Given the description of an element on the screen output the (x, y) to click on. 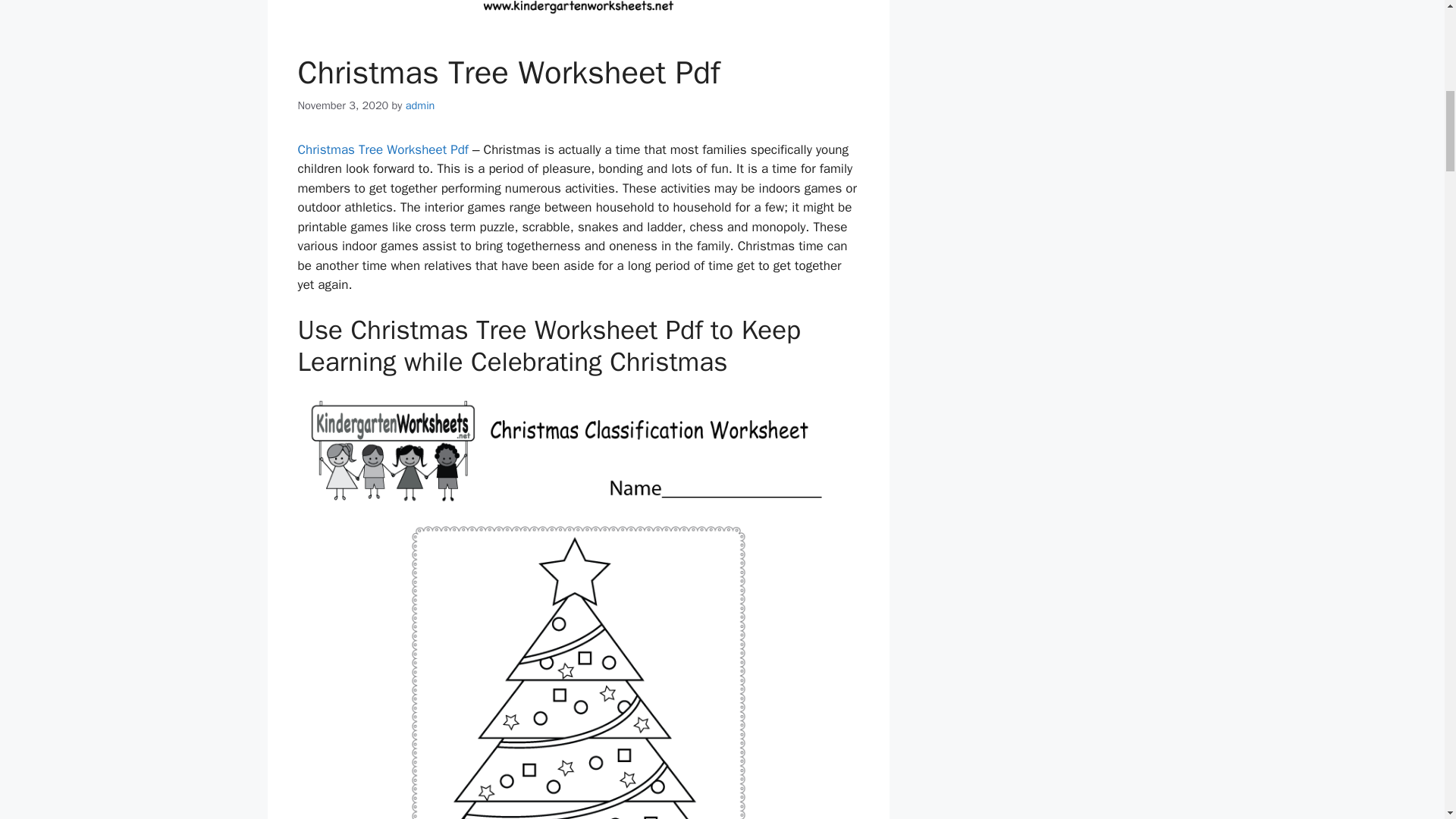
View all posts by admin (420, 105)
Christmas Tree Worksheet Pdf (382, 149)
admin (420, 105)
